Given the description of an element on the screen output the (x, y) to click on. 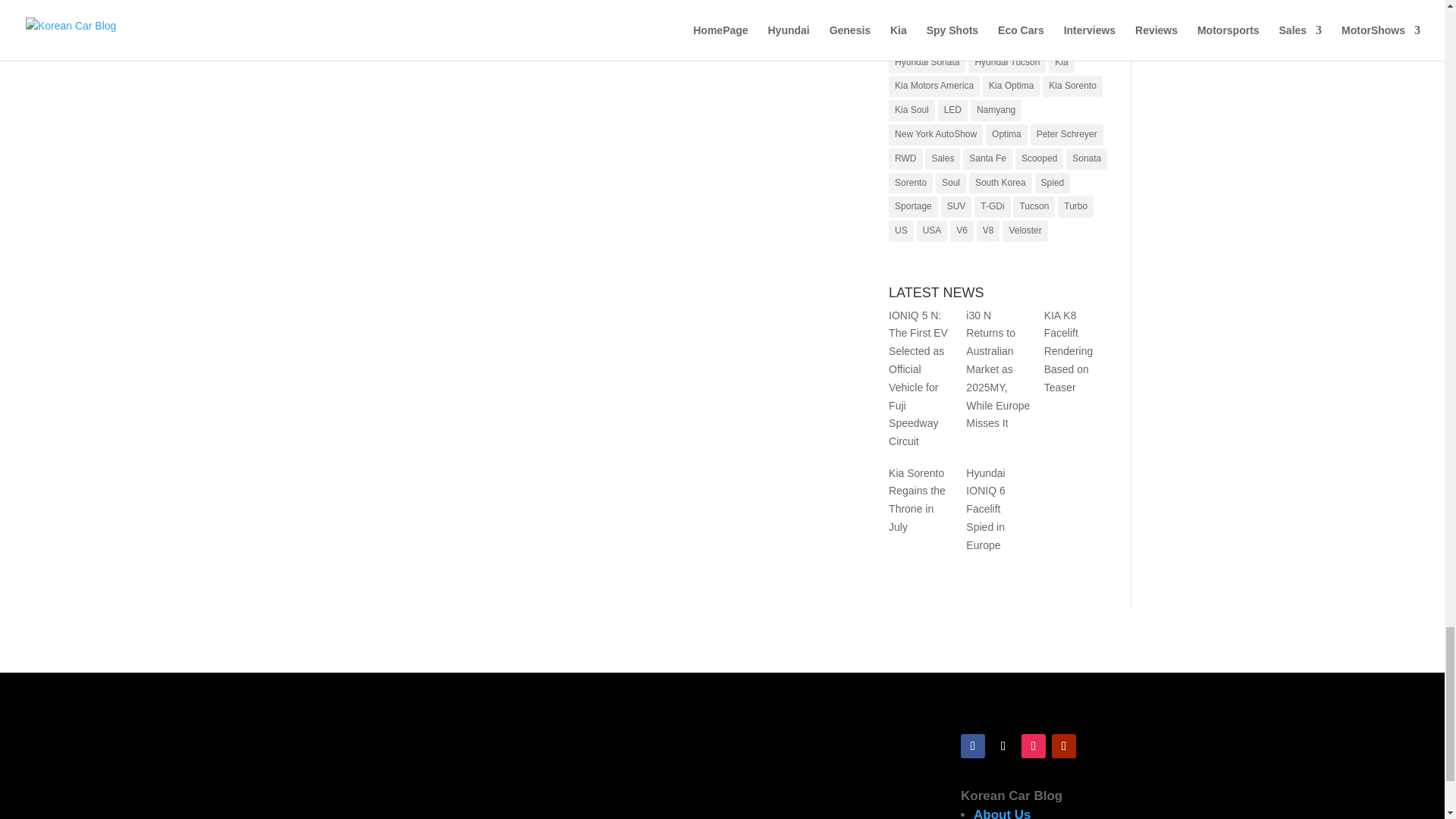
Follow on Facebook (972, 745)
Follow on Instagram (1033, 745)
Follow on X (1002, 745)
